Given the description of an element on the screen output the (x, y) to click on. 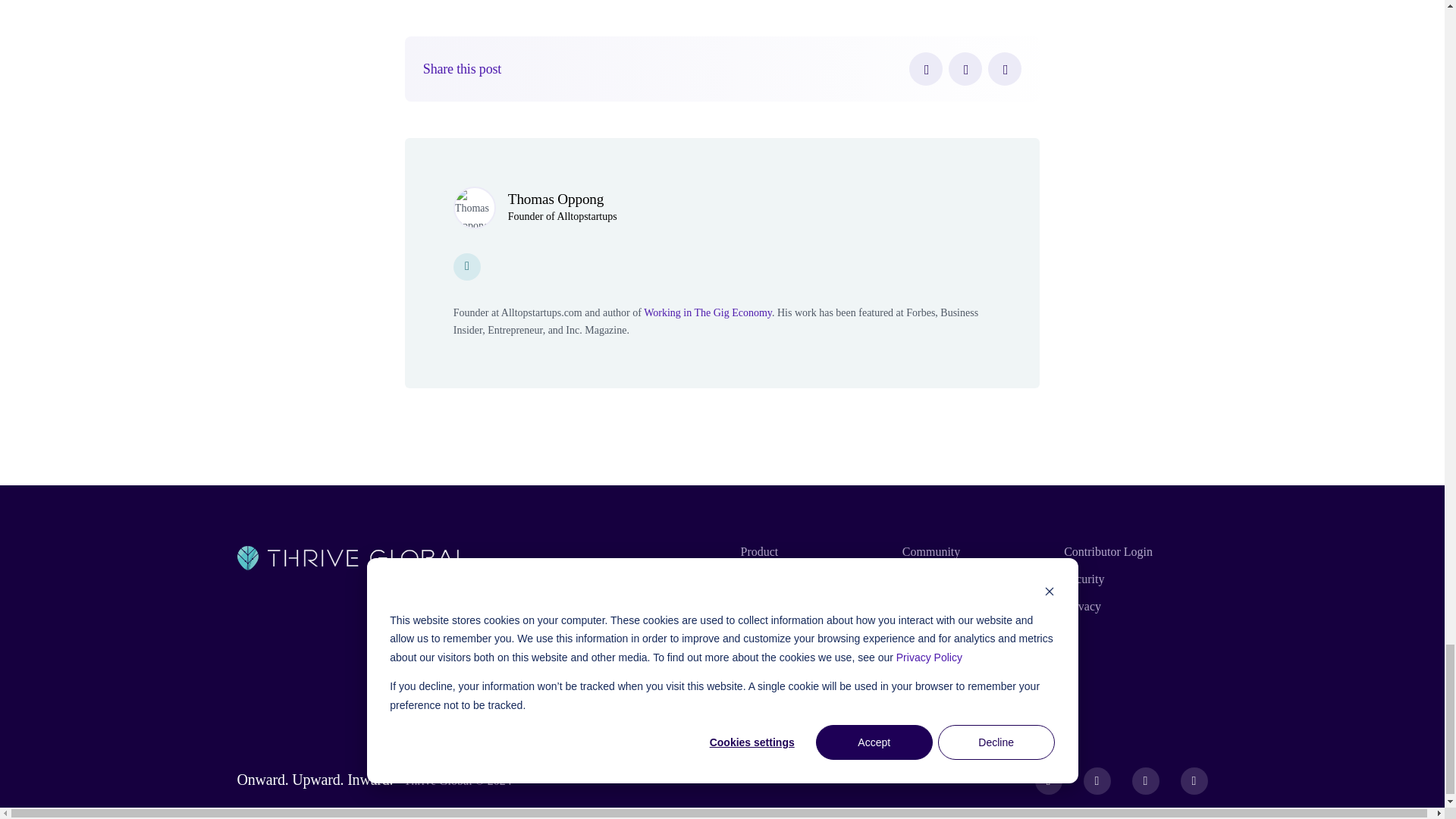
Thomas Oppong (556, 198)
Facebook (925, 68)
LinkedIn (1005, 68)
Twitter (965, 68)
